Given the description of an element on the screen output the (x, y) to click on. 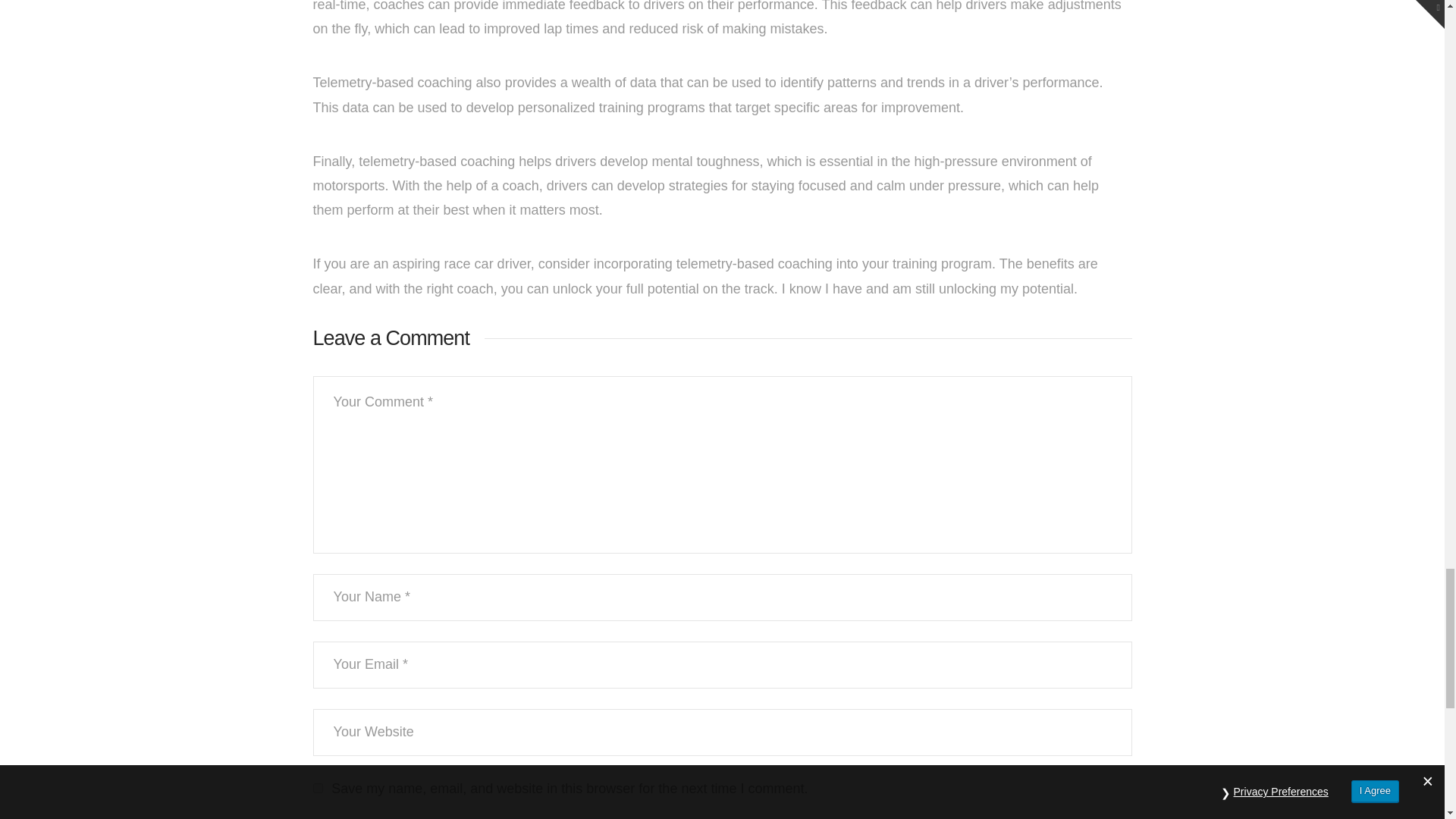
yes (317, 787)
